Given the description of an element on the screen output the (x, y) to click on. 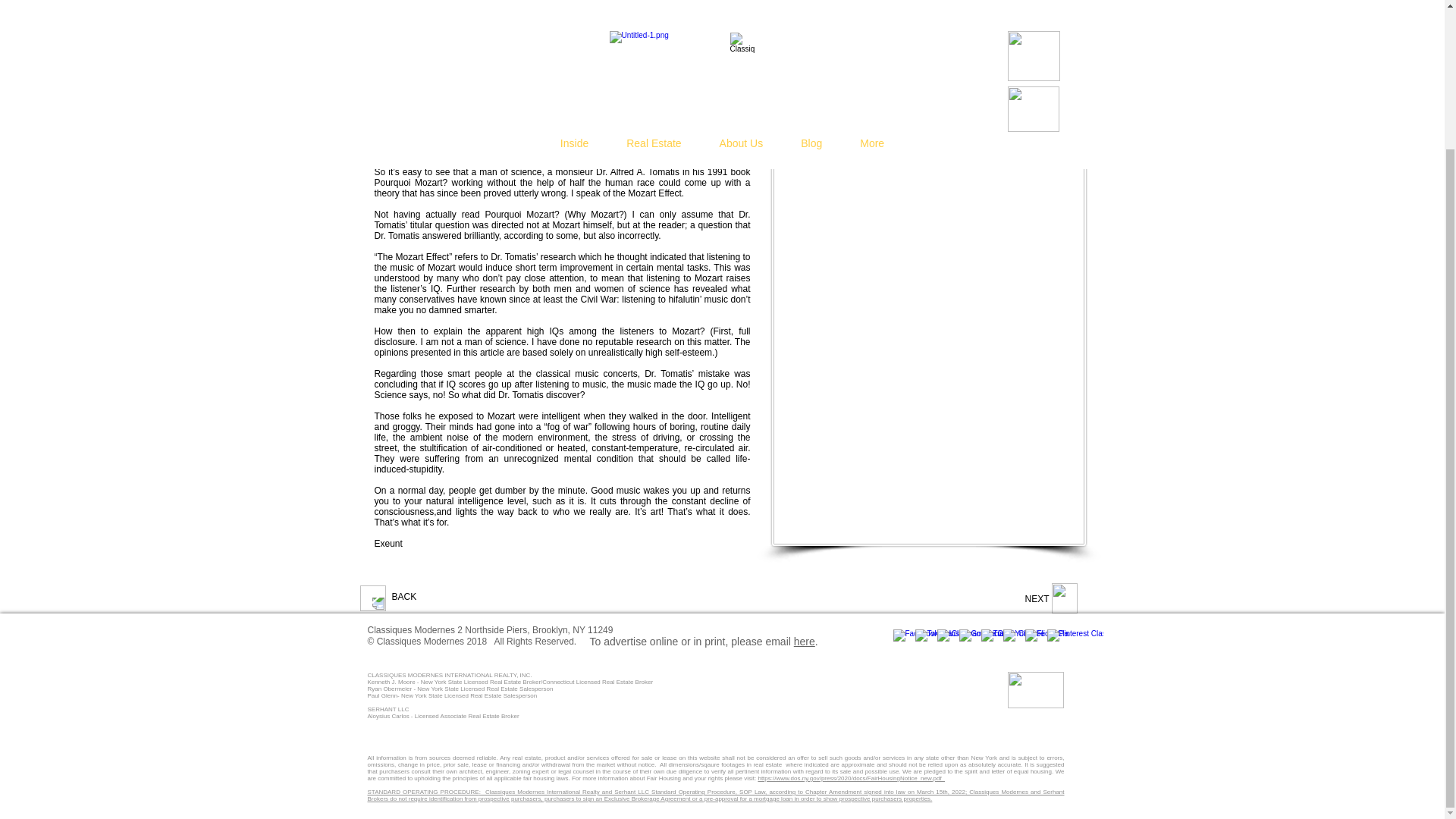
here (804, 641)
